Given the description of an element on the screen output the (x, y) to click on. 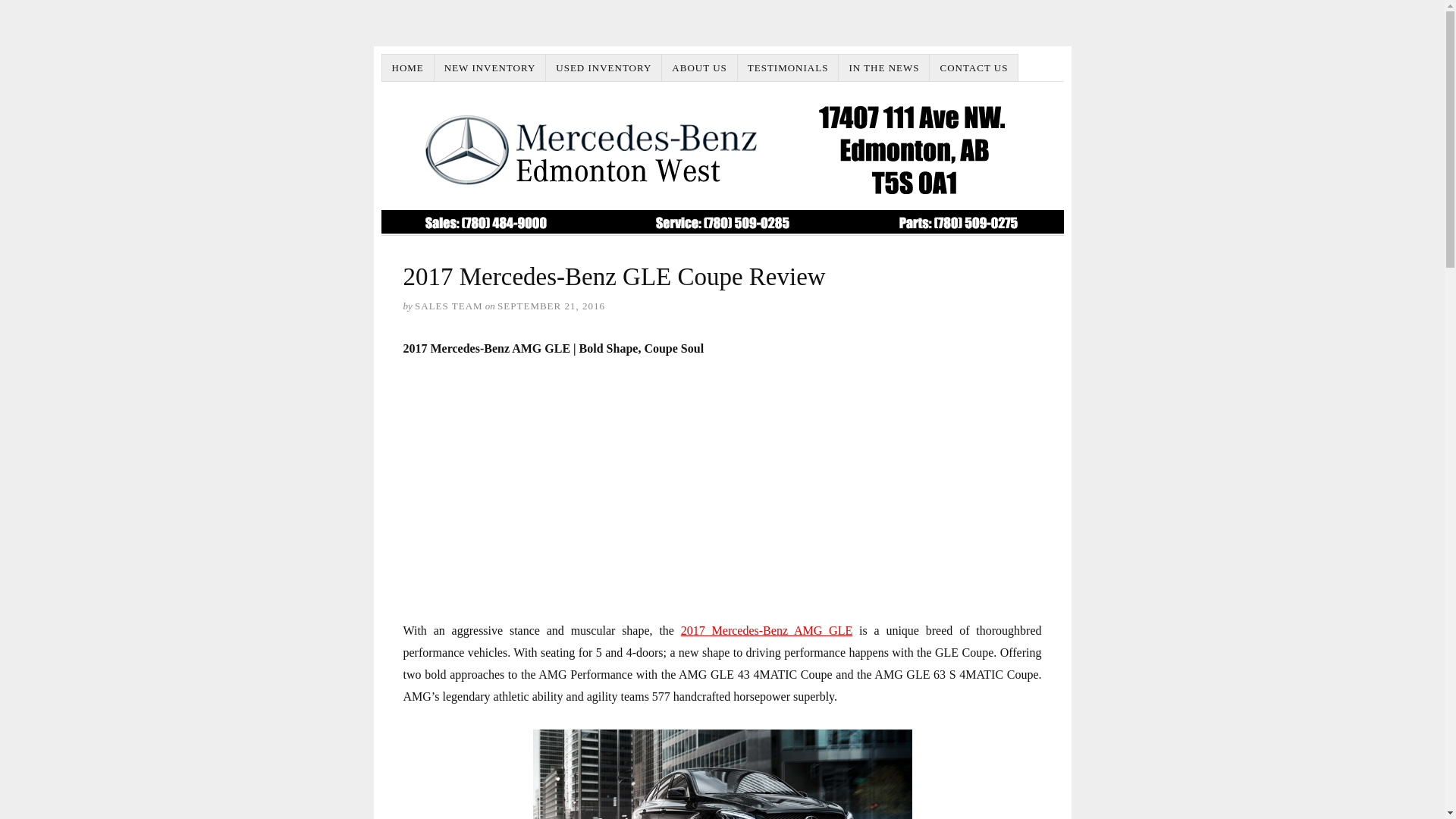
HOME (407, 67)
2016-09-21 (551, 306)
CONTACT US (973, 67)
TESTIMONIALS (789, 67)
NEW INVENTORY (490, 67)
IN THE NEWS (884, 67)
ABOUT US (699, 67)
USED INVENTORY (604, 67)
2017 Mercedes-Benz AMG GLE (766, 630)
